Given the description of an element on the screen output the (x, y) to click on. 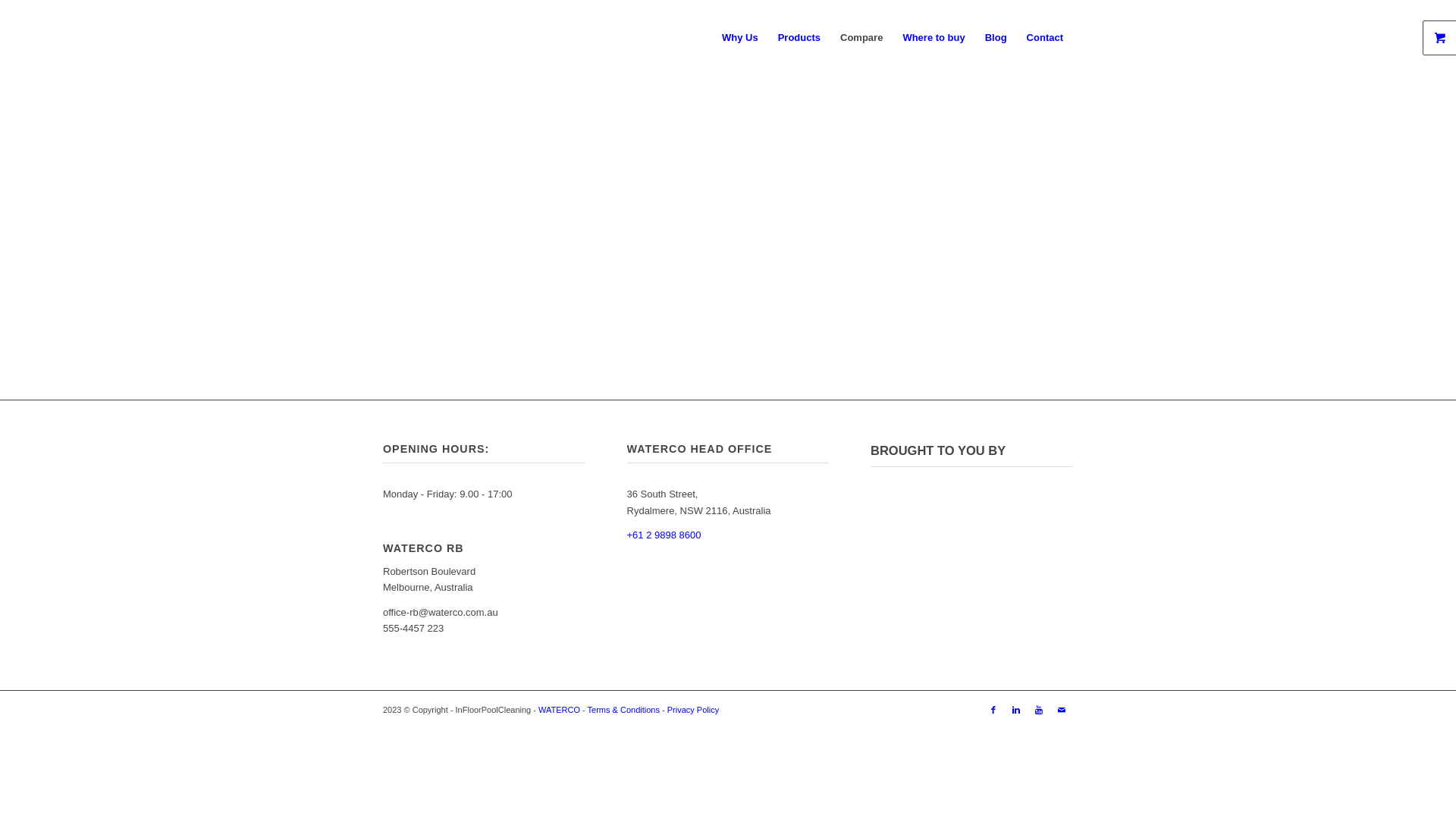
+61 2 9898 8600 Element type: text (664, 534)
Blog Element type: text (995, 37)
Facebook Element type: hover (993, 709)
Where to buy Element type: text (933, 37)
Linkedin Element type: hover (1015, 709)
Contact Element type: text (1044, 37)
Terms & Conditions Element type: text (623, 709)
Compare Element type: text (861, 37)
Mail Element type: hover (1061, 709)
Youtube Element type: hover (1038, 709)
WATERCO Element type: text (559, 709)
Products Element type: text (799, 37)
Why Us Element type: text (740, 37)
Privacy Policy Element type: text (692, 709)
